Given the description of an element on the screen output the (x, y) to click on. 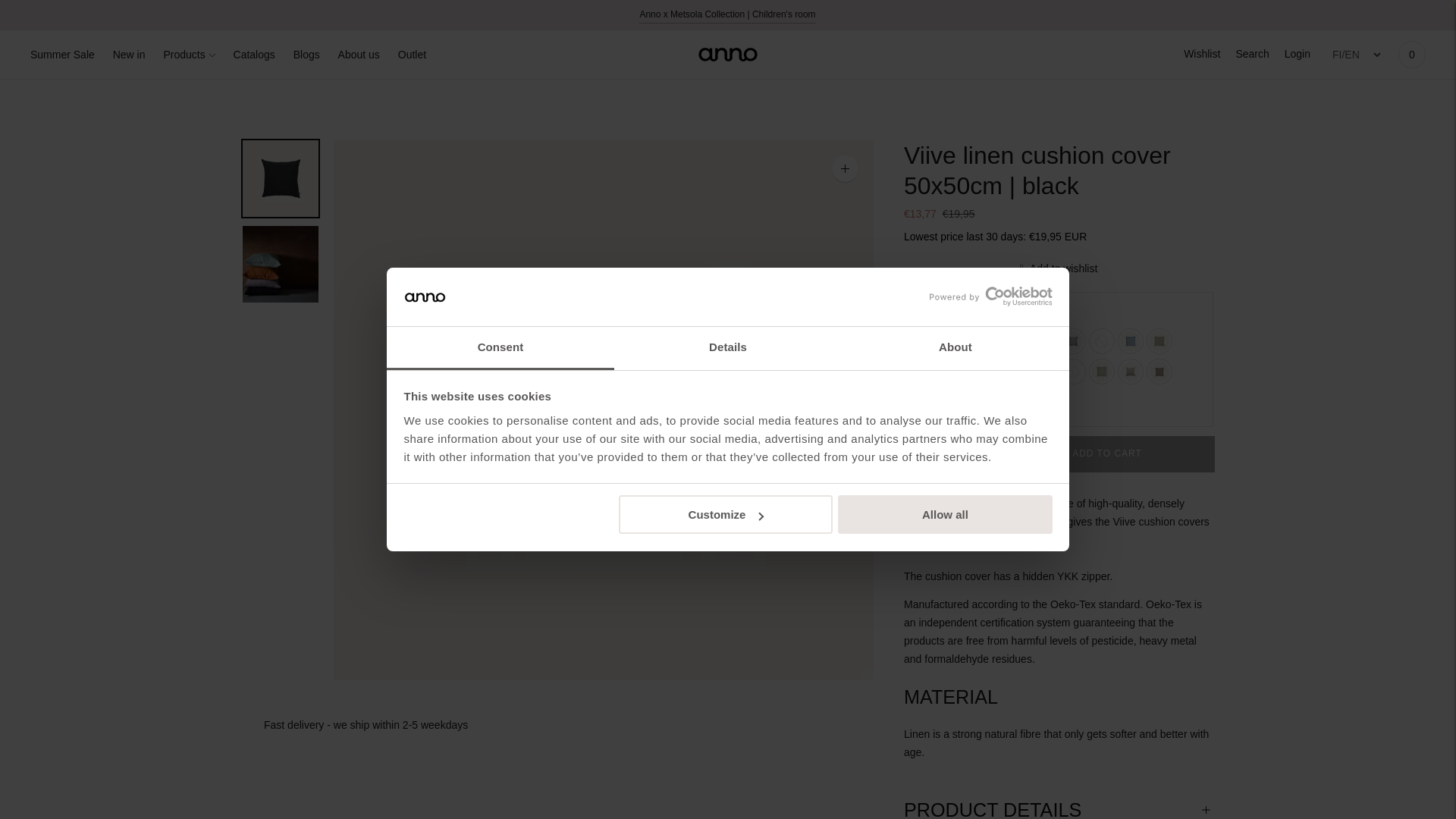
01 (947, 454)
Details (727, 348)
About (954, 348)
Consent (500, 348)
